Given the description of an element on the screen output the (x, y) to click on. 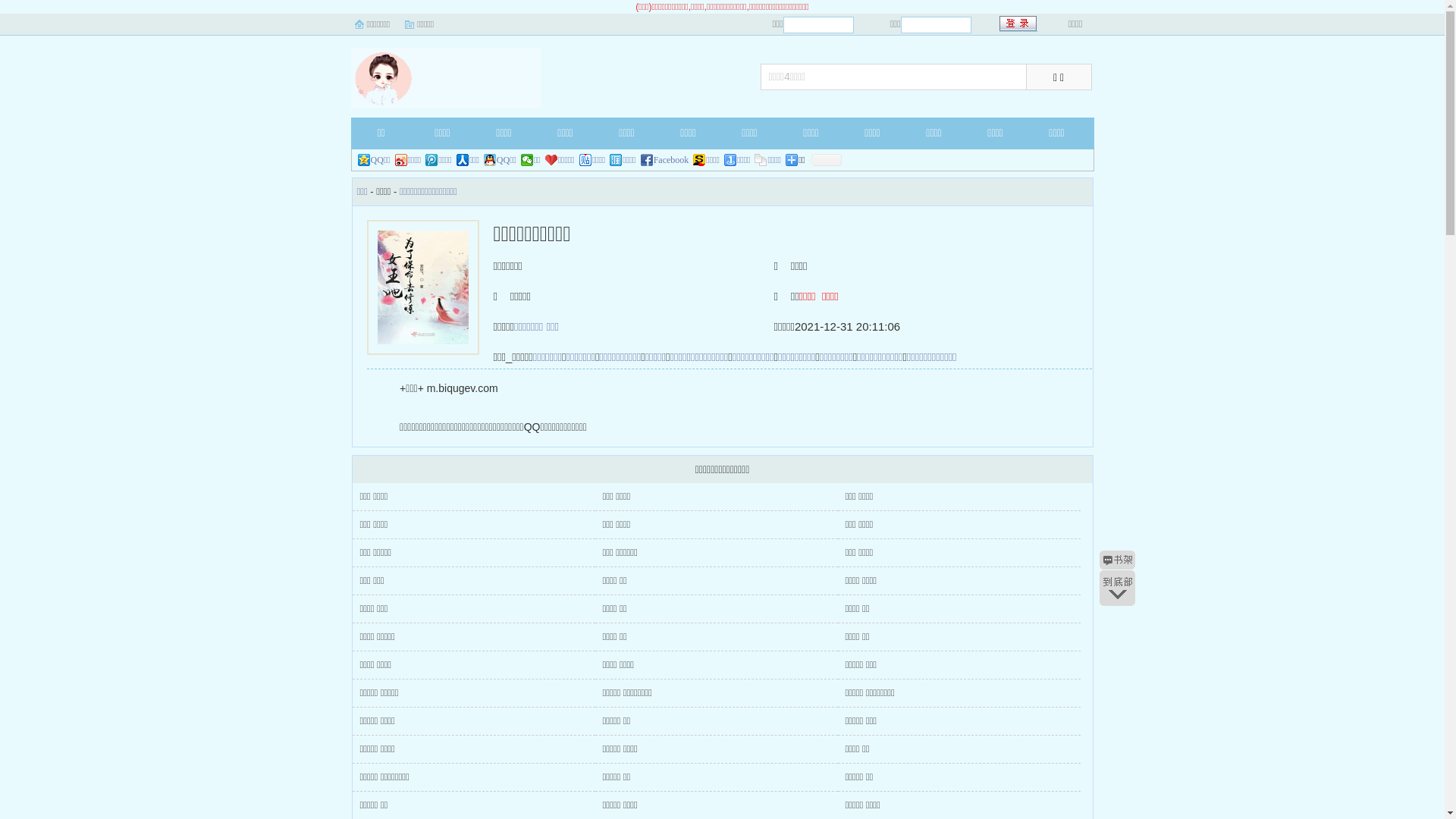
Facebook Element type: text (664, 159)
